Given the description of an element on the screen output the (x, y) to click on. 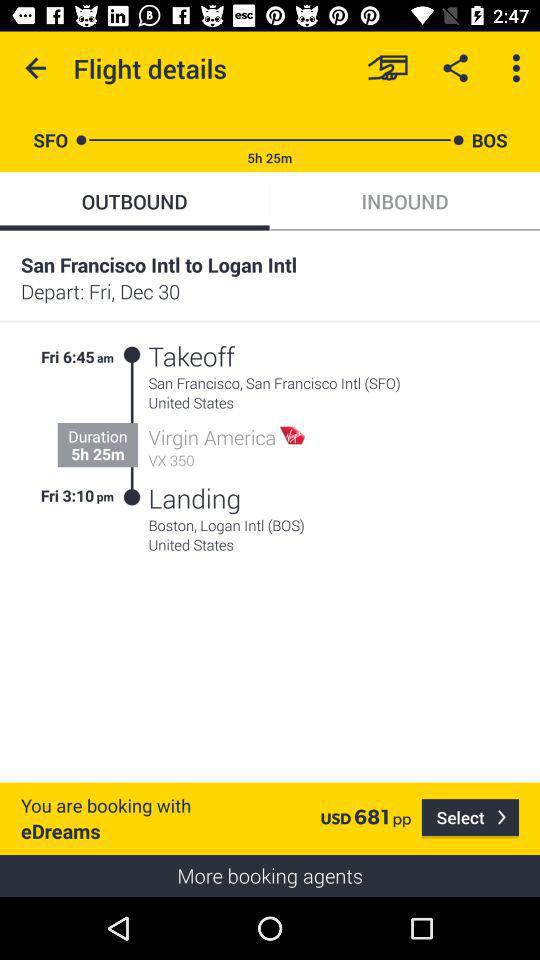
select virgin america icon (212, 437)
